Given the description of an element on the screen output the (x, y) to click on. 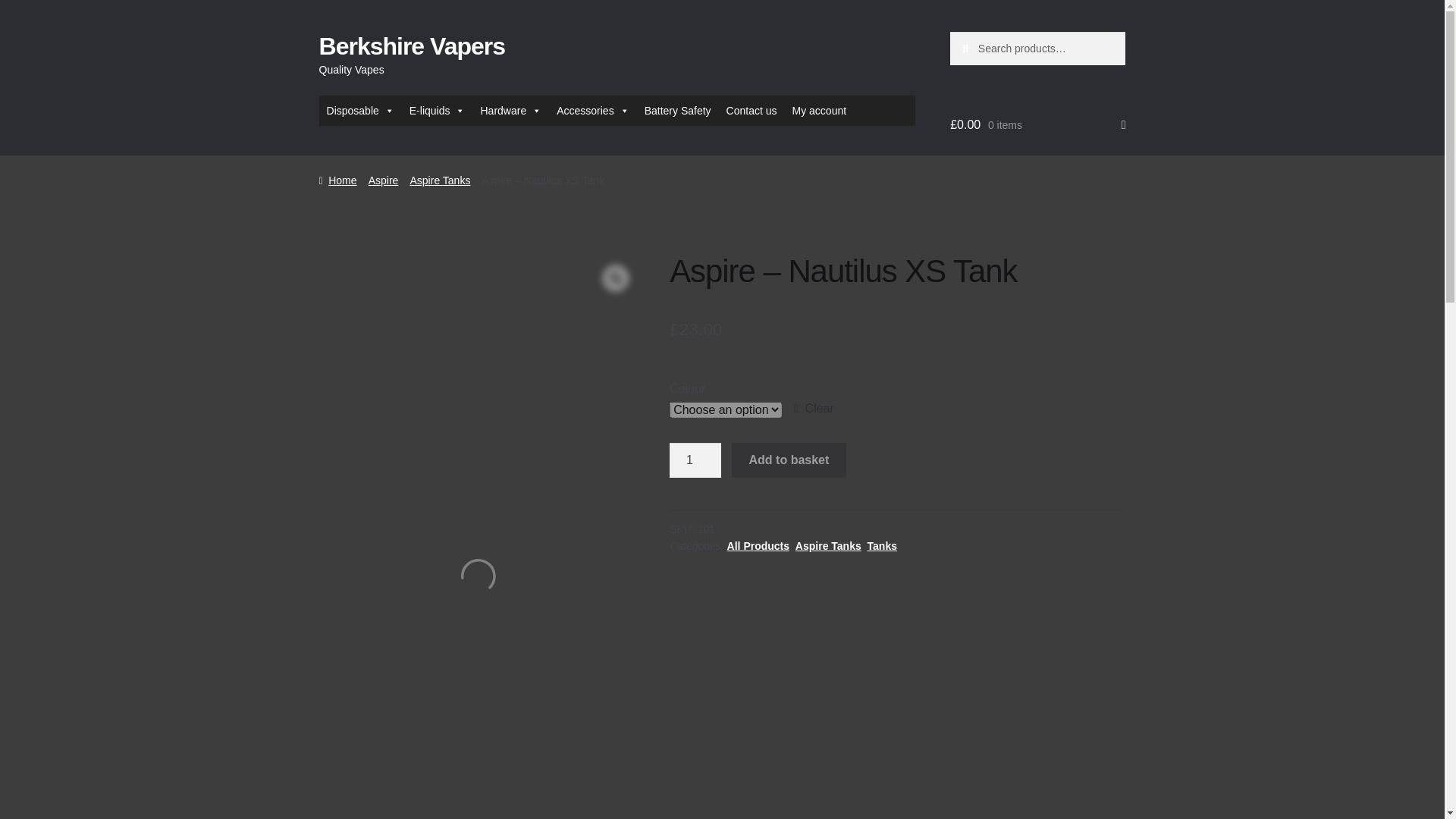
1 (694, 460)
Disposable (359, 110)
View your shopping basket (1037, 124)
Hardware (509, 110)
Berkshire Vapers (411, 45)
E-liquids (437, 110)
